Given the description of an element on the screen output the (x, y) to click on. 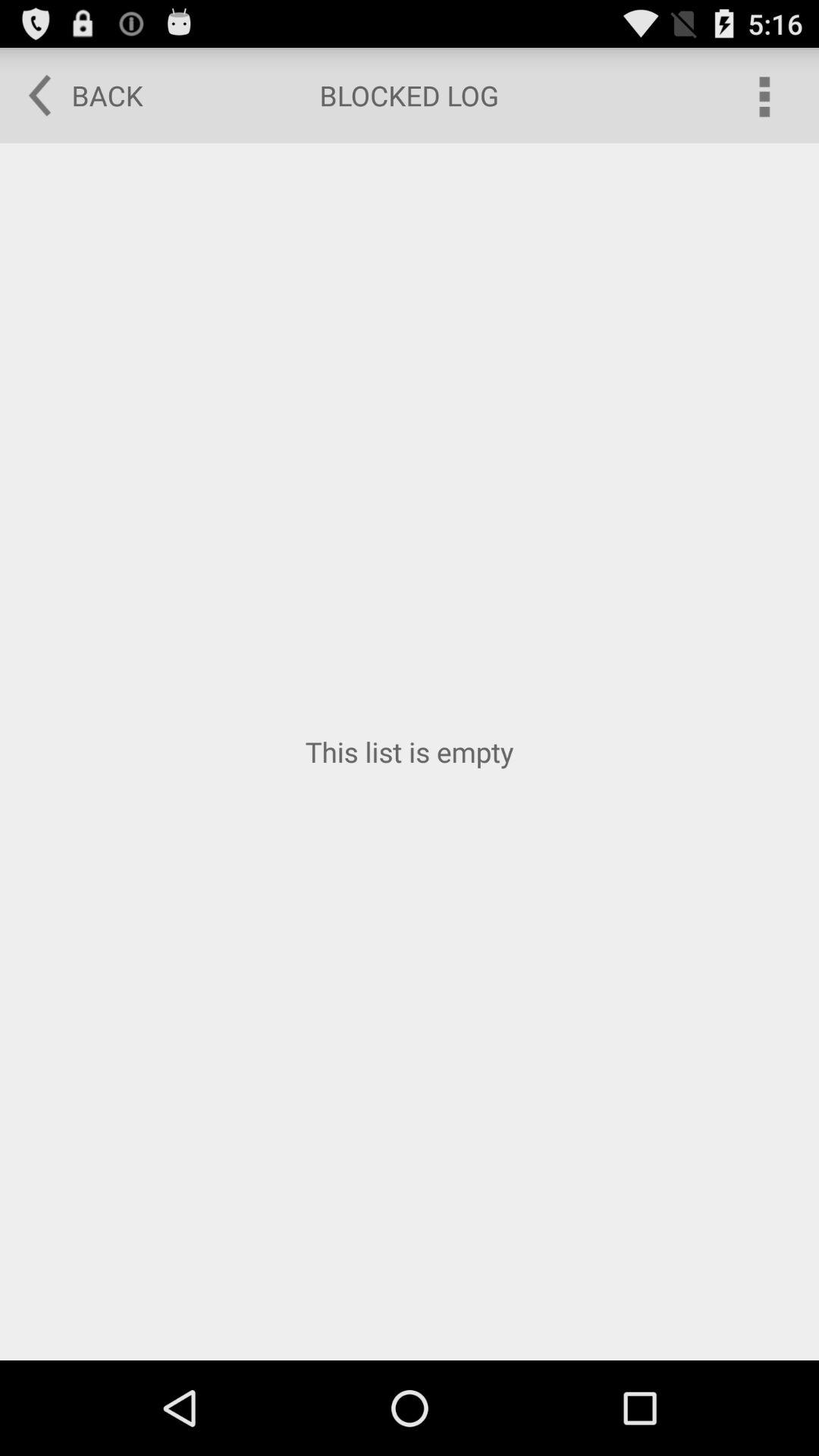
select the app to the right of the blocked log app (763, 95)
